Given the description of an element on the screen output the (x, y) to click on. 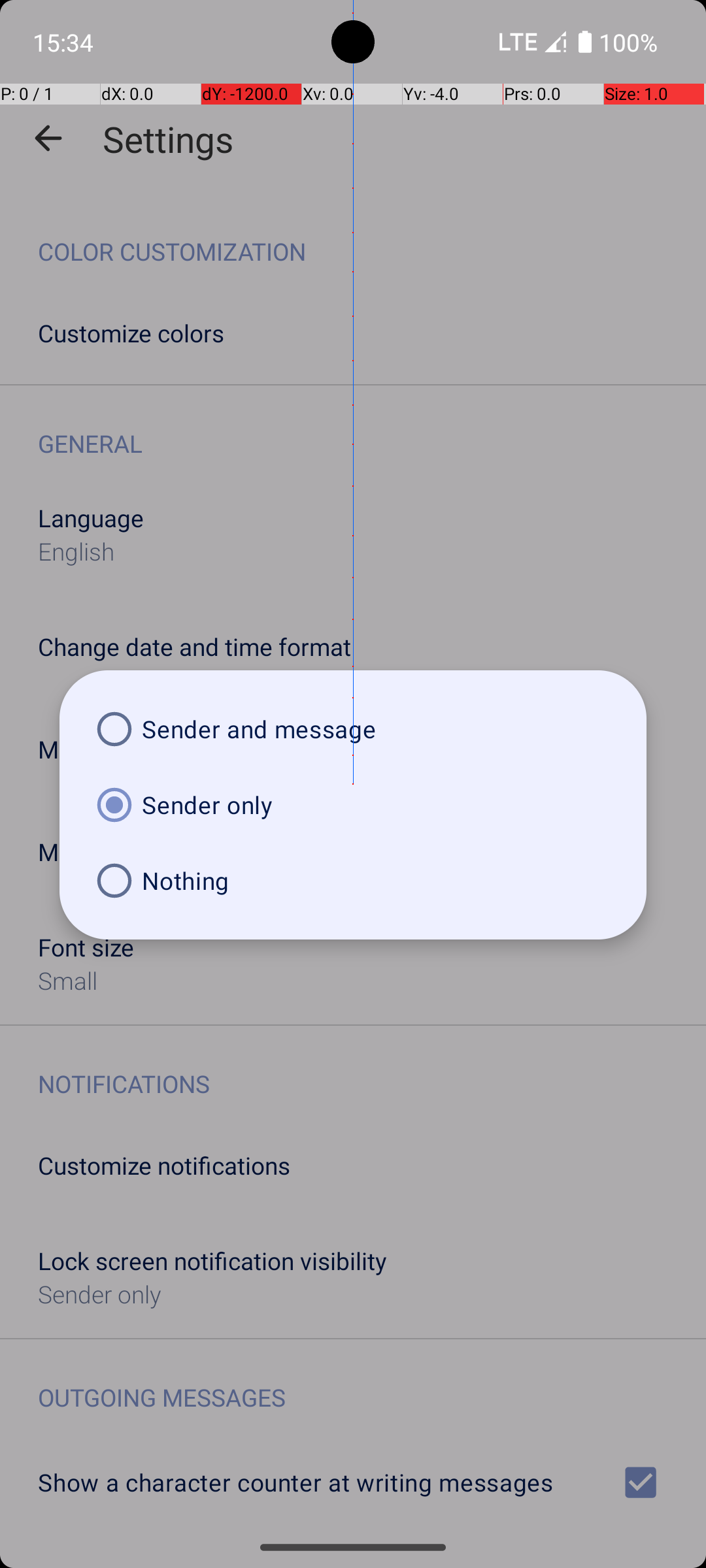
Sender and message Element type: android.widget.RadioButton (352, 729)
Sender only Element type: android.widget.RadioButton (352, 804)
Nothing Element type: android.widget.RadioButton (352, 880)
